Given the description of an element on the screen output the (x, y) to click on. 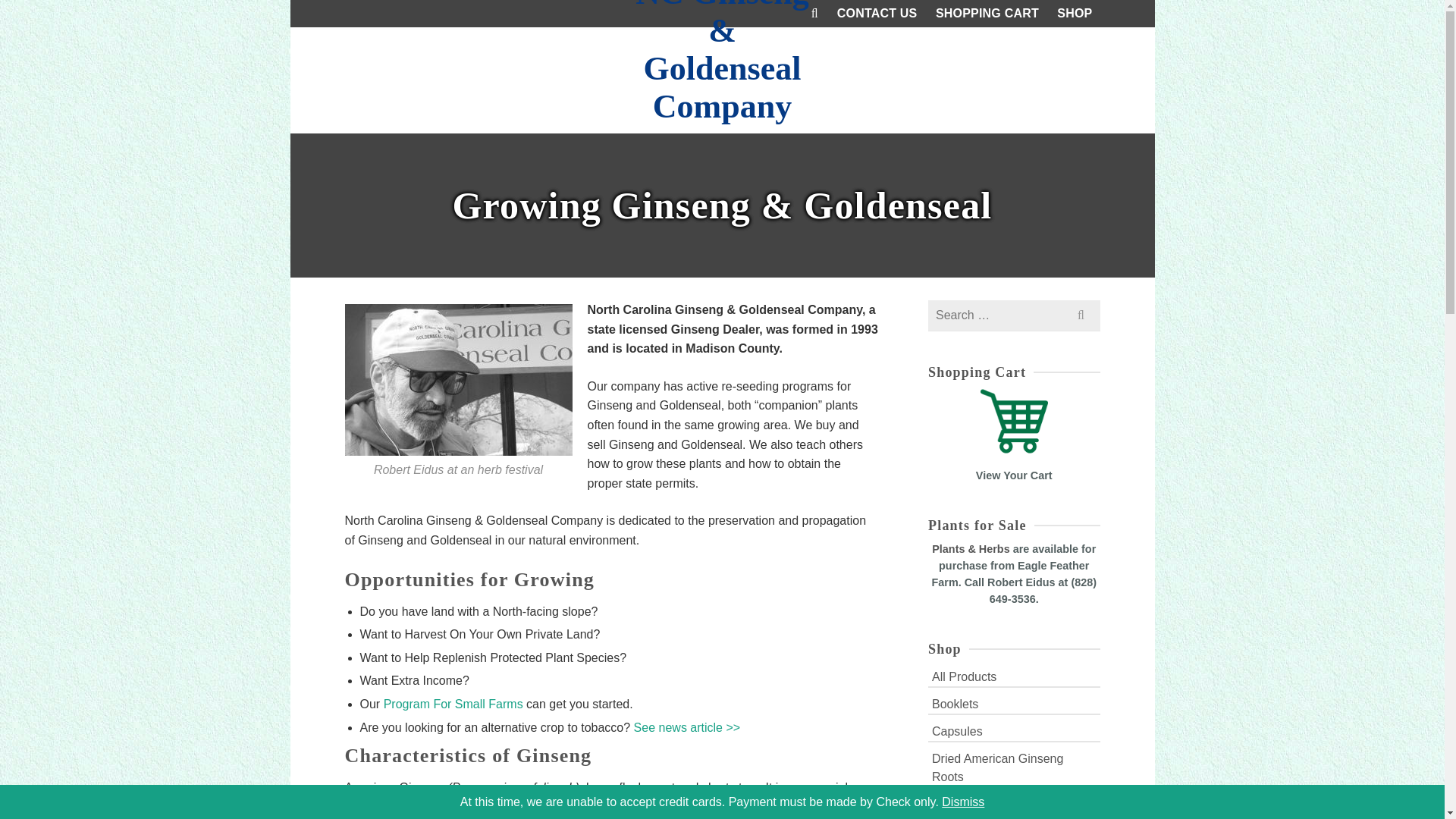
MEDICINAL PLANTS (617, 175)
EAGLE FEATHER FARM (288, 175)
SERVICES (782, 175)
CONTACT US (876, 13)
SHOP (1074, 13)
SHOPPING CART (987, 13)
GOLDENSEAL (495, 175)
GINSENG (383, 175)
